Given the description of an element on the screen output the (x, y) to click on. 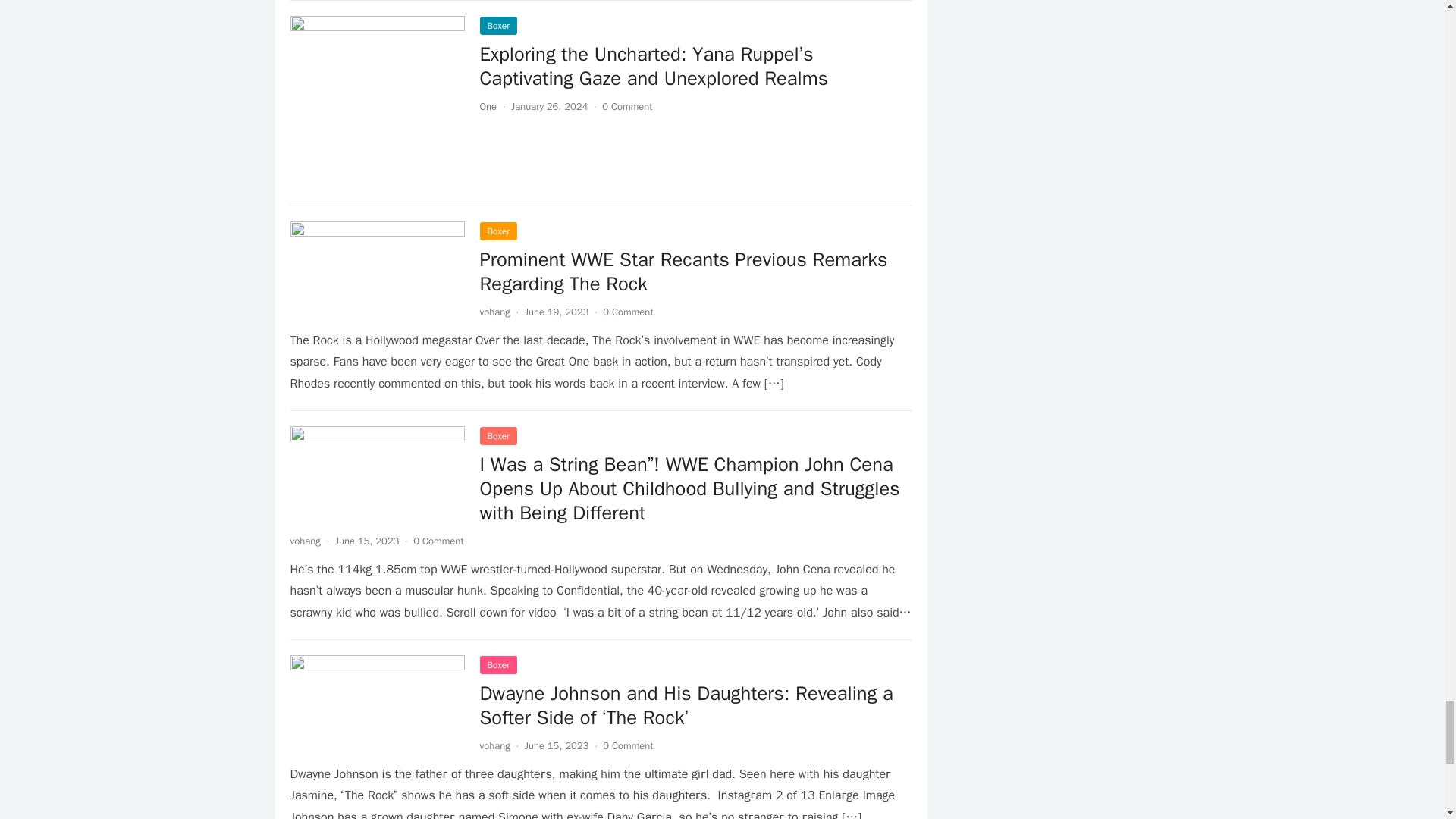
Posts by vohang (304, 540)
Posts by vohang (494, 745)
Posts by One (487, 106)
Posts by vohang (494, 311)
